Given the description of an element on the screen output the (x, y) to click on. 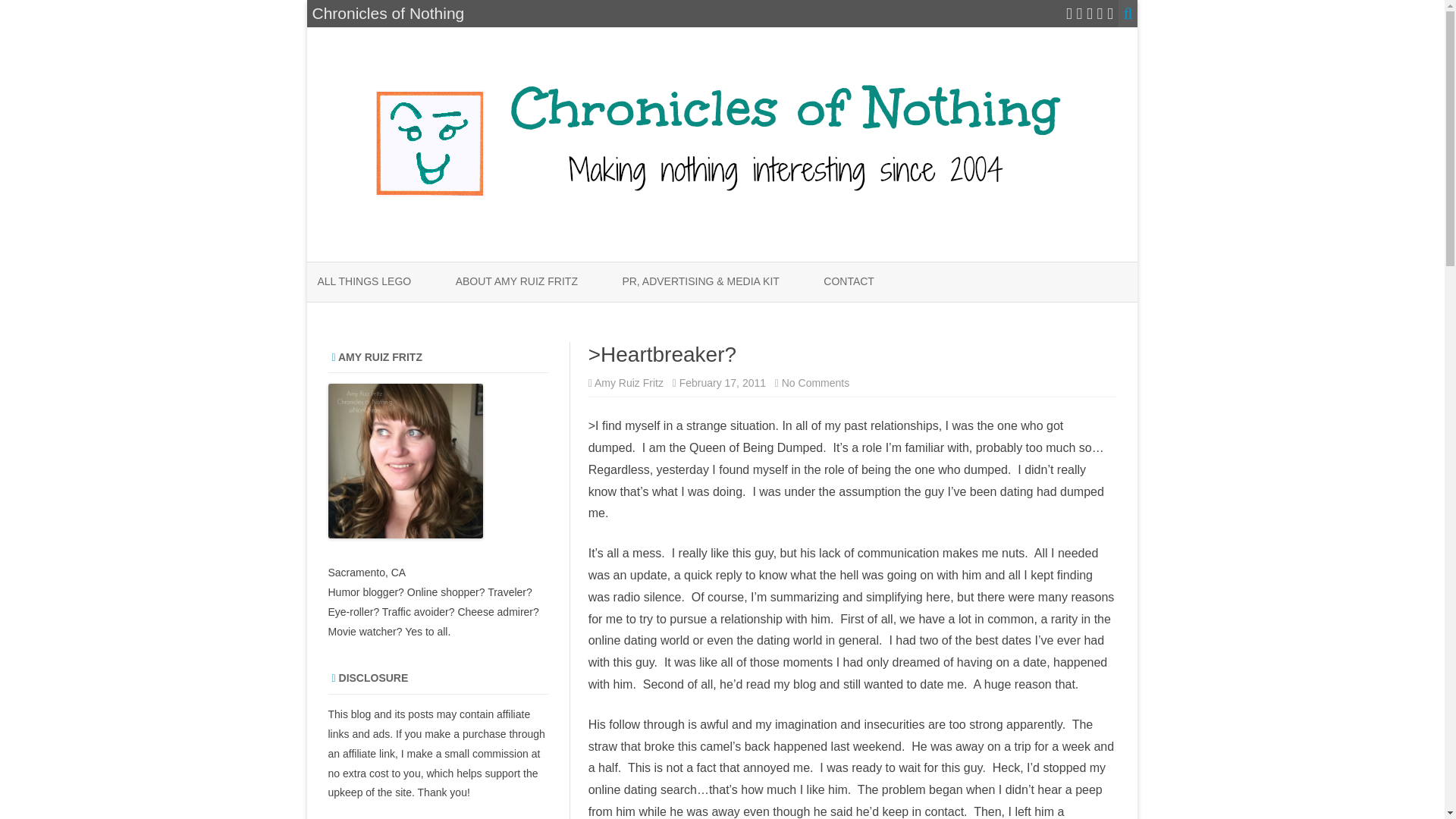
CONTACT (849, 282)
Twitter (1068, 13)
Instagram (1089, 13)
Facebook (1080, 13)
RSS (1109, 13)
ALL THINGS LEGO (363, 282)
Amy Ruiz Fritz (628, 382)
Pinterest (1100, 13)
ABOUT AMY RUIZ FRITZ (516, 282)
